Given the description of an element on the screen output the (x, y) to click on. 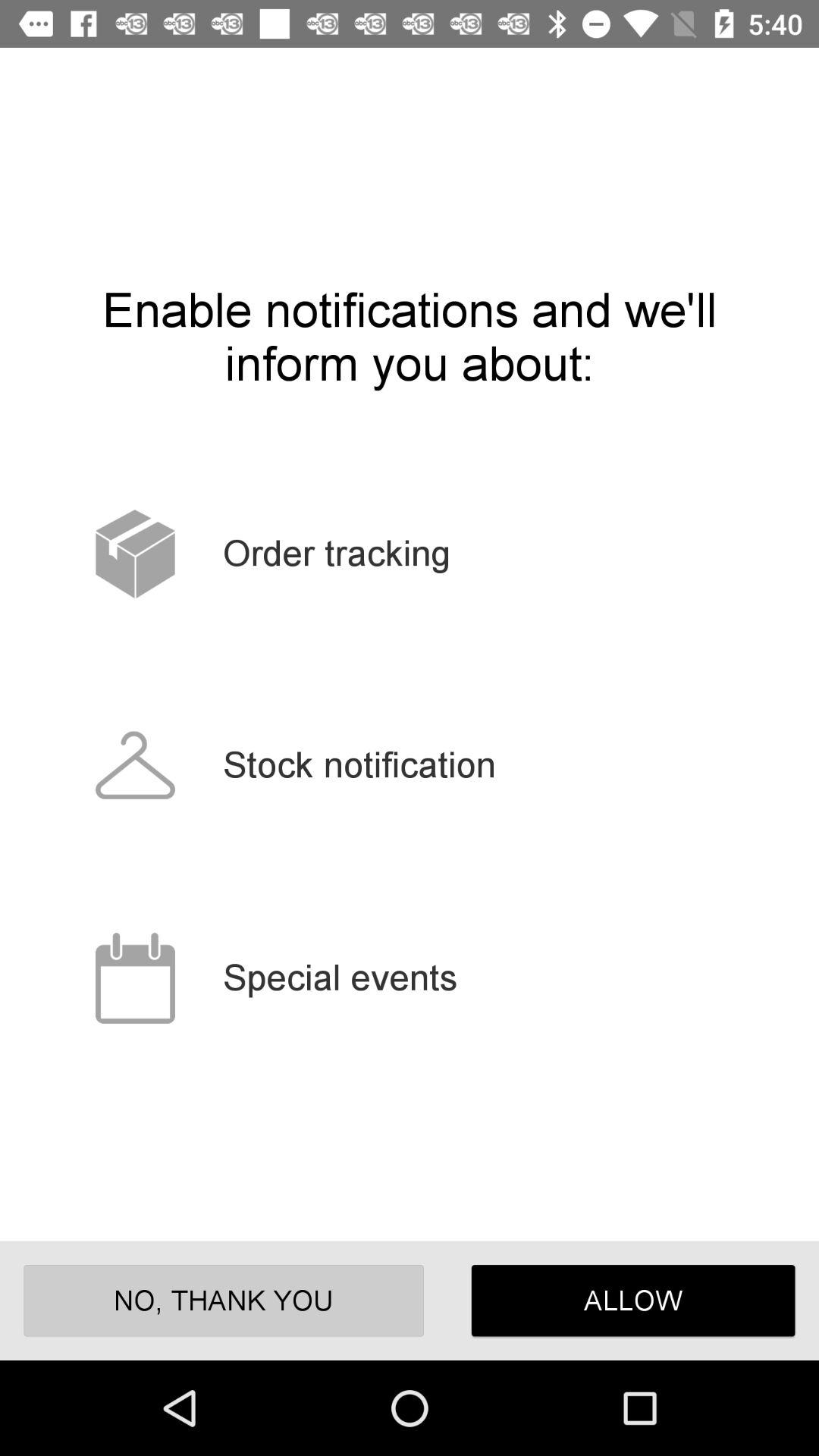
swipe until allow item (633, 1300)
